Given the description of an element on the screen output the (x, y) to click on. 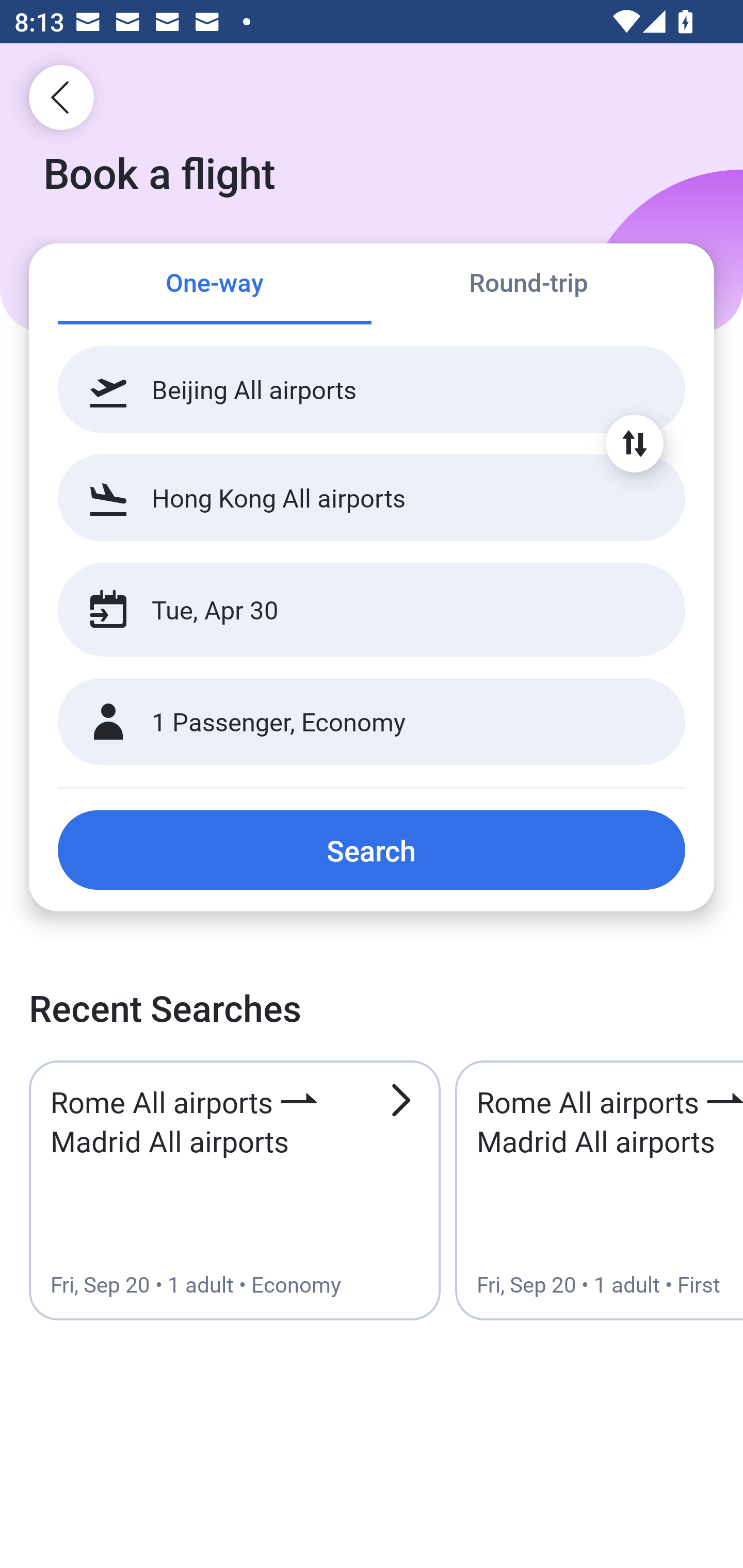
Round-trip (528, 284)
Beijing All airports (371, 389)
Hong Kong All airports (371, 497)
Tue, Apr 30 (349, 609)
1 Passenger, Economy (371, 721)
Search (371, 849)
